Given the description of an element on the screen output the (x, y) to click on. 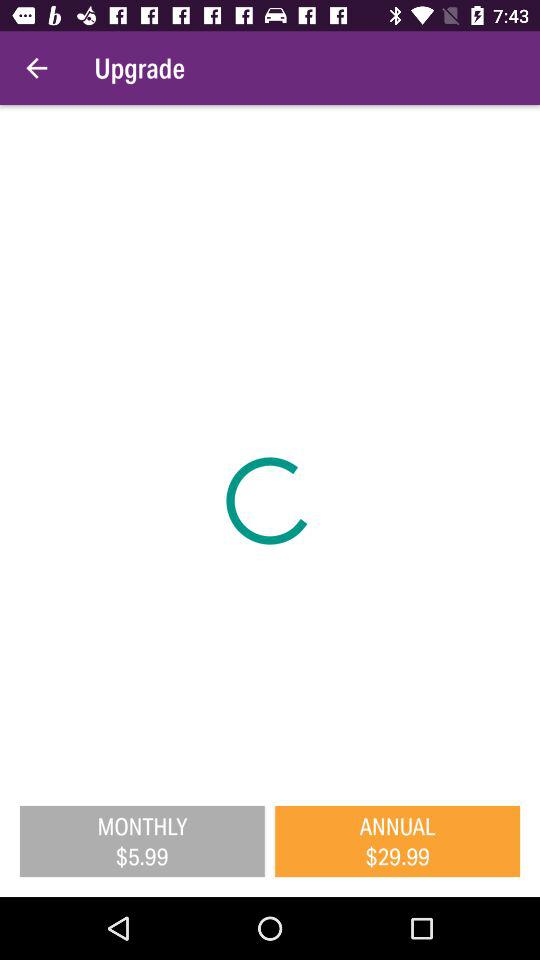
press the item next to the monthly
$5.99 item (397, 841)
